Given the description of an element on the screen output the (x, y) to click on. 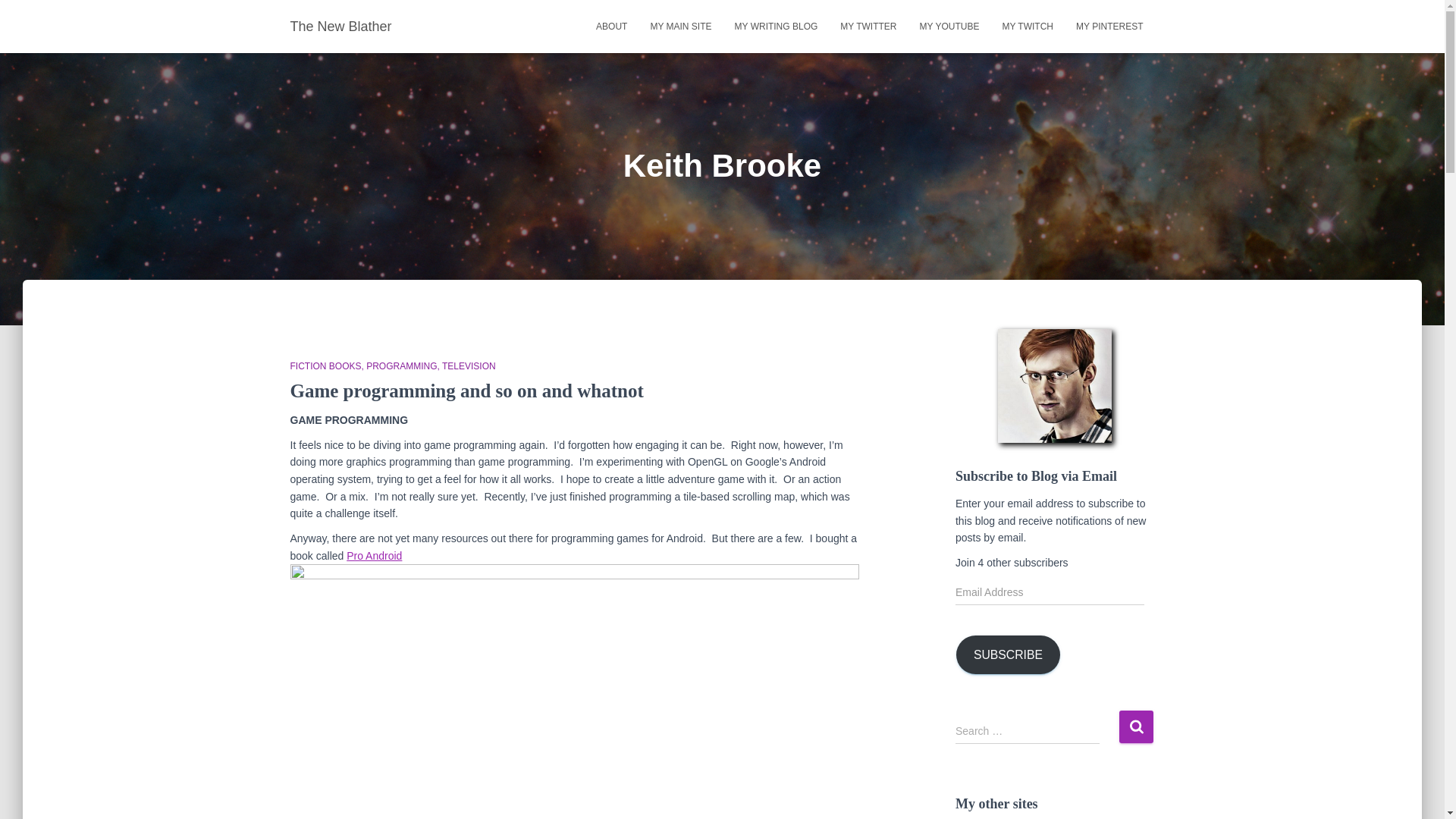
Game programming and so on and whatnot (466, 390)
Pro Android (373, 555)
Search (1136, 726)
FICTION BOOKS (327, 366)
My Pinterest (1109, 26)
The New Blather (341, 26)
About (612, 26)
ABOUT (612, 26)
Search (1136, 726)
Game programming and so on and whatnot (466, 390)
